Given the description of an element on the screen output the (x, y) to click on. 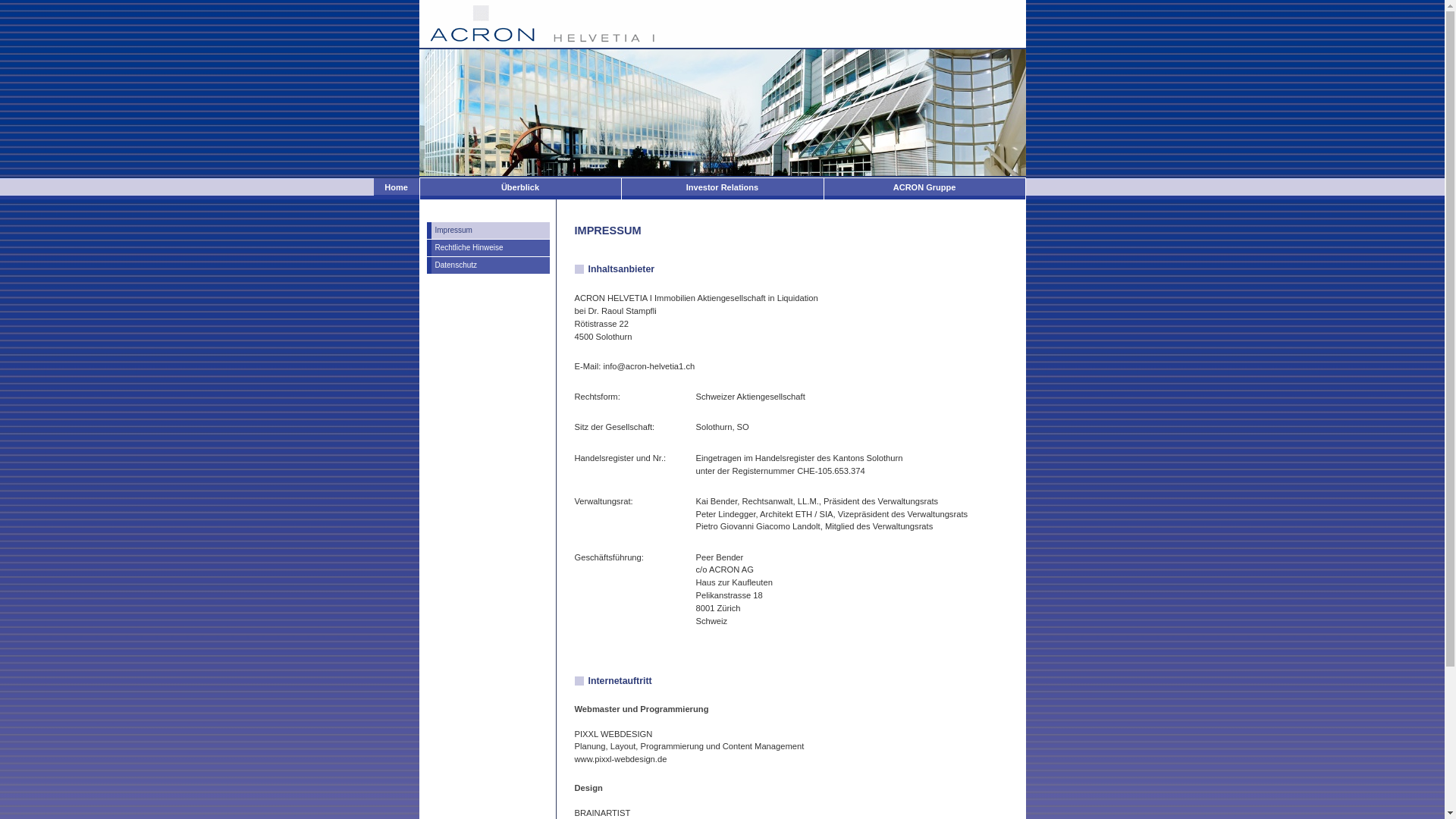
ACRON Gruppe Element type: text (923, 188)
Rechtliche Hinweise Element type: text (487, 247)
info@acron-helvetia1.ch Element type: text (648, 365)
www.pixxl-webdesign.de Element type: text (620, 758)
Datenschutz Element type: text (487, 265)
Investor Relations Element type: text (722, 188)
Impressum Element type: text (487, 230)
Home Element type: text (395, 188)
